Given the description of an element on the screen output the (x, y) to click on. 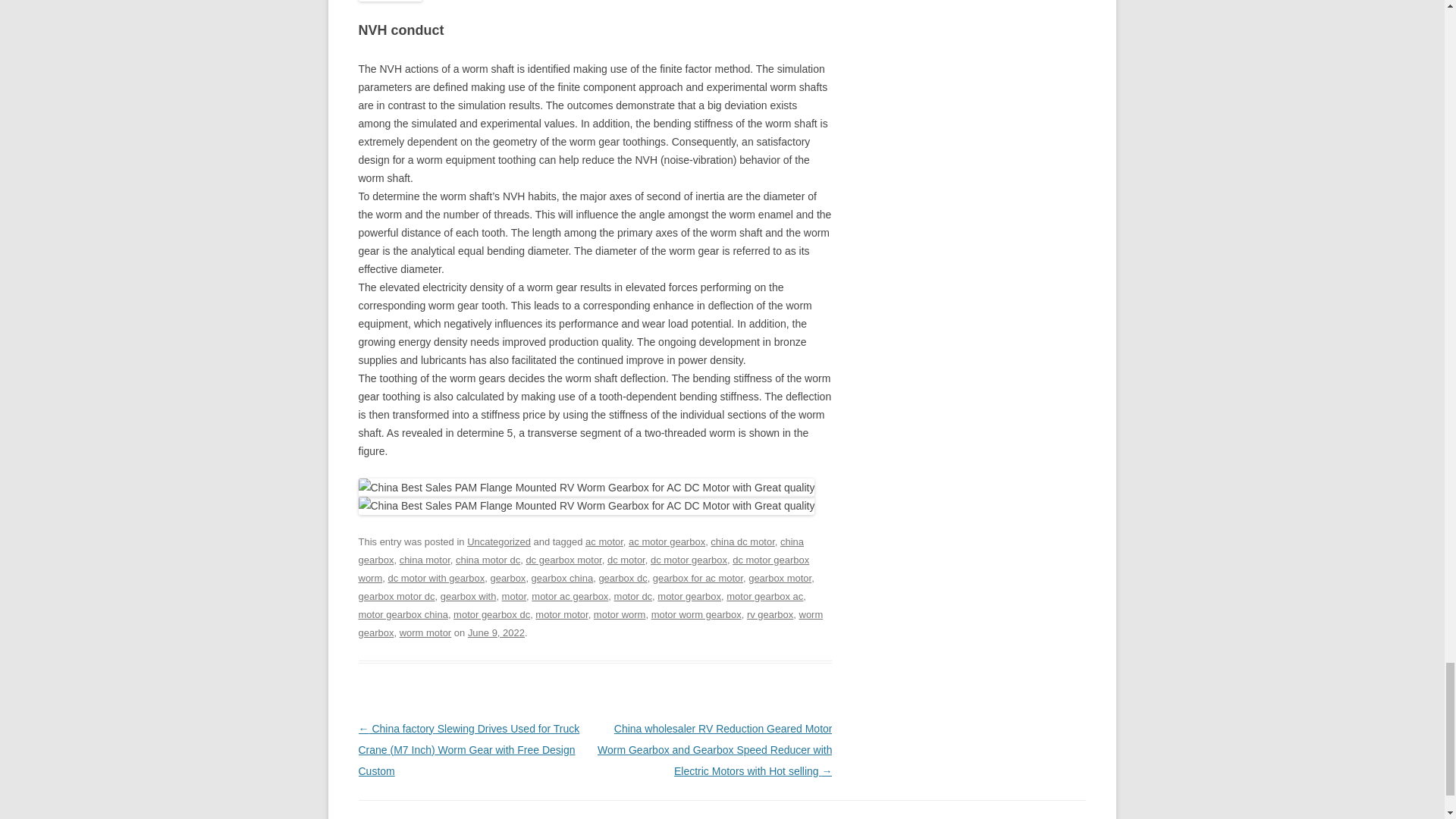
gearbox for ac motor (697, 577)
motor gearbox china (402, 614)
motor worm (620, 614)
Uncategorized (499, 541)
motor worm gearbox (695, 614)
dc motor gearbox (688, 559)
2:33 pm (495, 632)
dc motor with gearbox (435, 577)
motor motor (561, 614)
motor dc (633, 595)
dc motor gearbox worm (583, 568)
motor gearbox (689, 595)
rv gearbox (769, 614)
worm motor (424, 632)
gearbox china (562, 577)
